Given the description of an element on the screen output the (x, y) to click on. 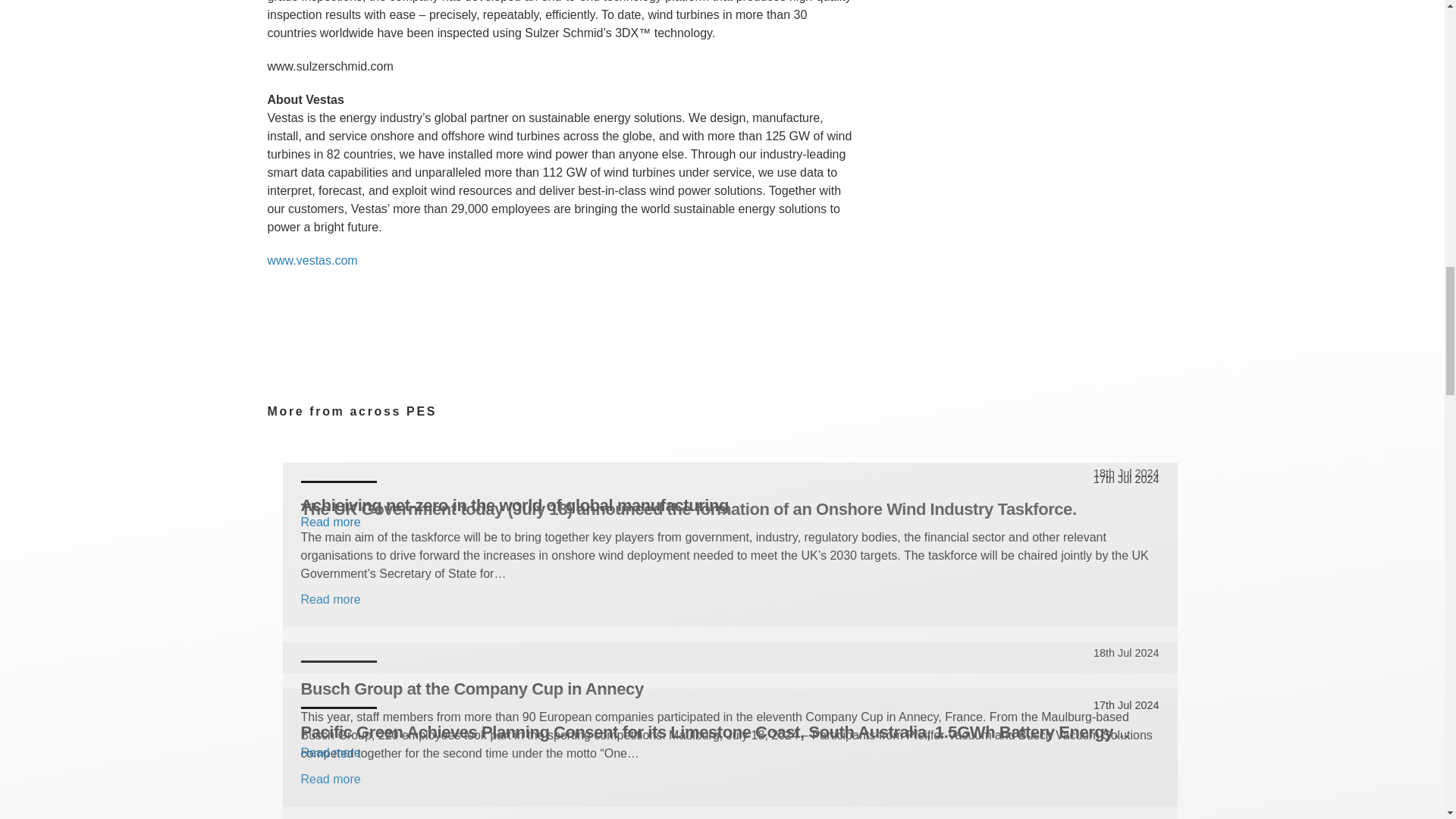
www.vestas.com (311, 259)
Busch Group at the Company Cup in Annecy (728, 689)
